Given the description of an element on the screen output the (x, y) to click on. 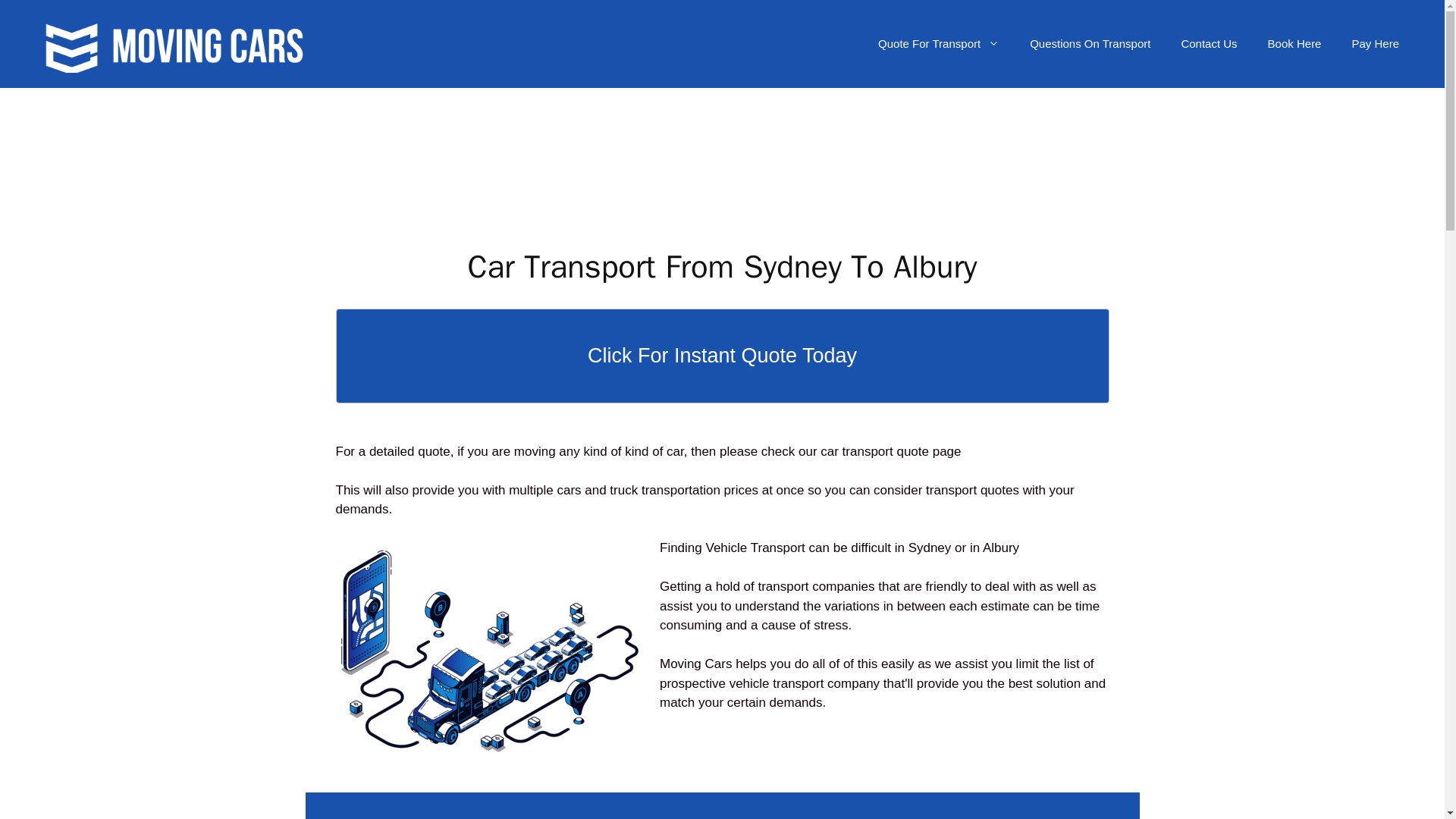
Book Here (1294, 43)
car transport quote (874, 451)
Contact Us (1209, 43)
Click For Instant Quote Today (721, 355)
Pay Here (1374, 43)
Quote For Transport (938, 43)
Vehicle Transport (754, 547)
Questions On Transport (1090, 43)
